Given the description of an element on the screen output the (x, y) to click on. 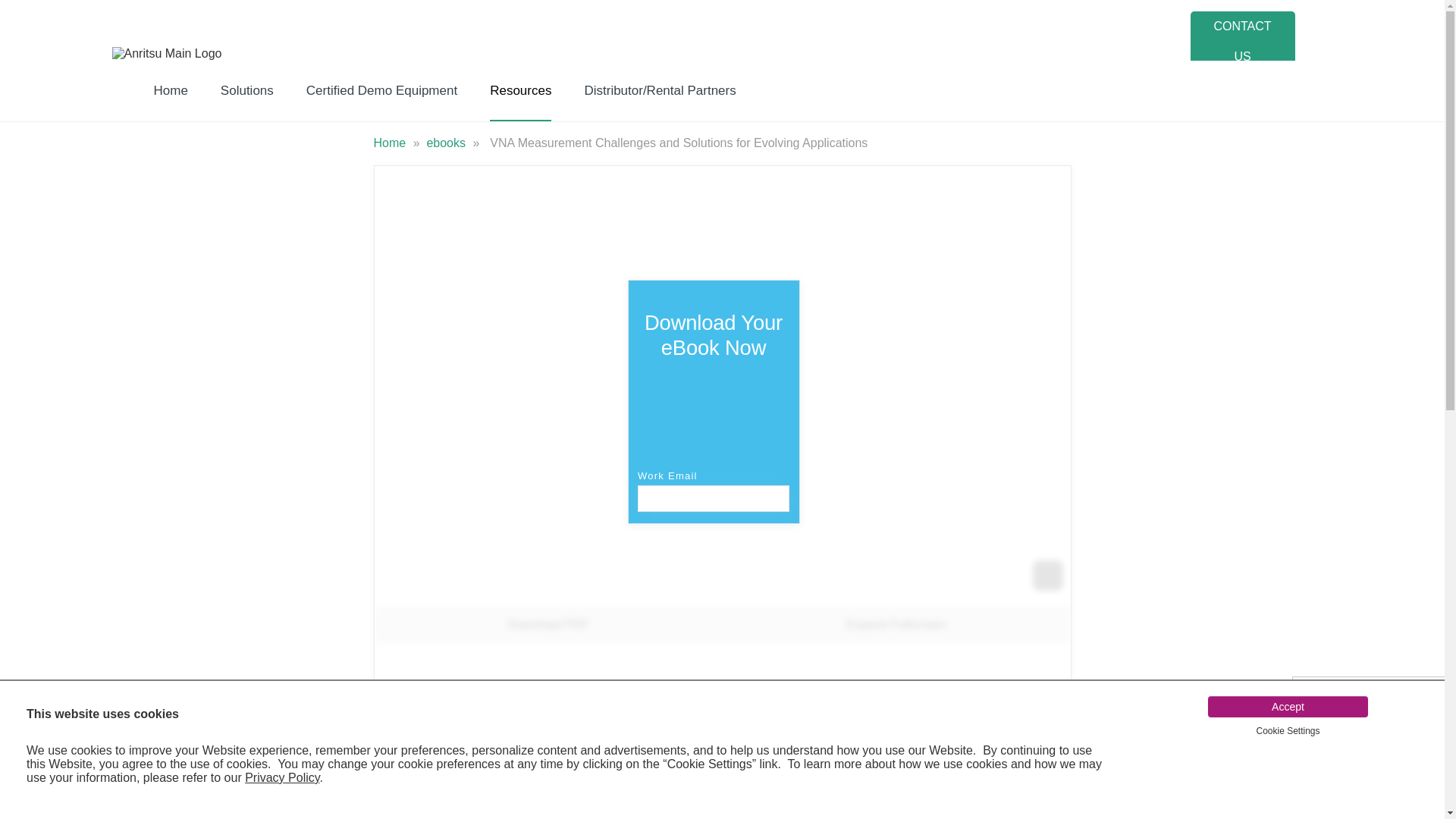
Cookie Settings (1287, 730)
Privacy Policy (281, 777)
Resources (520, 90)
ebooks (447, 142)
Solutions (247, 90)
CONTACT US (1243, 41)
Certified Demo Equipment (381, 90)
Accept (1288, 706)
Home (390, 142)
